Given the description of an element on the screen output the (x, y) to click on. 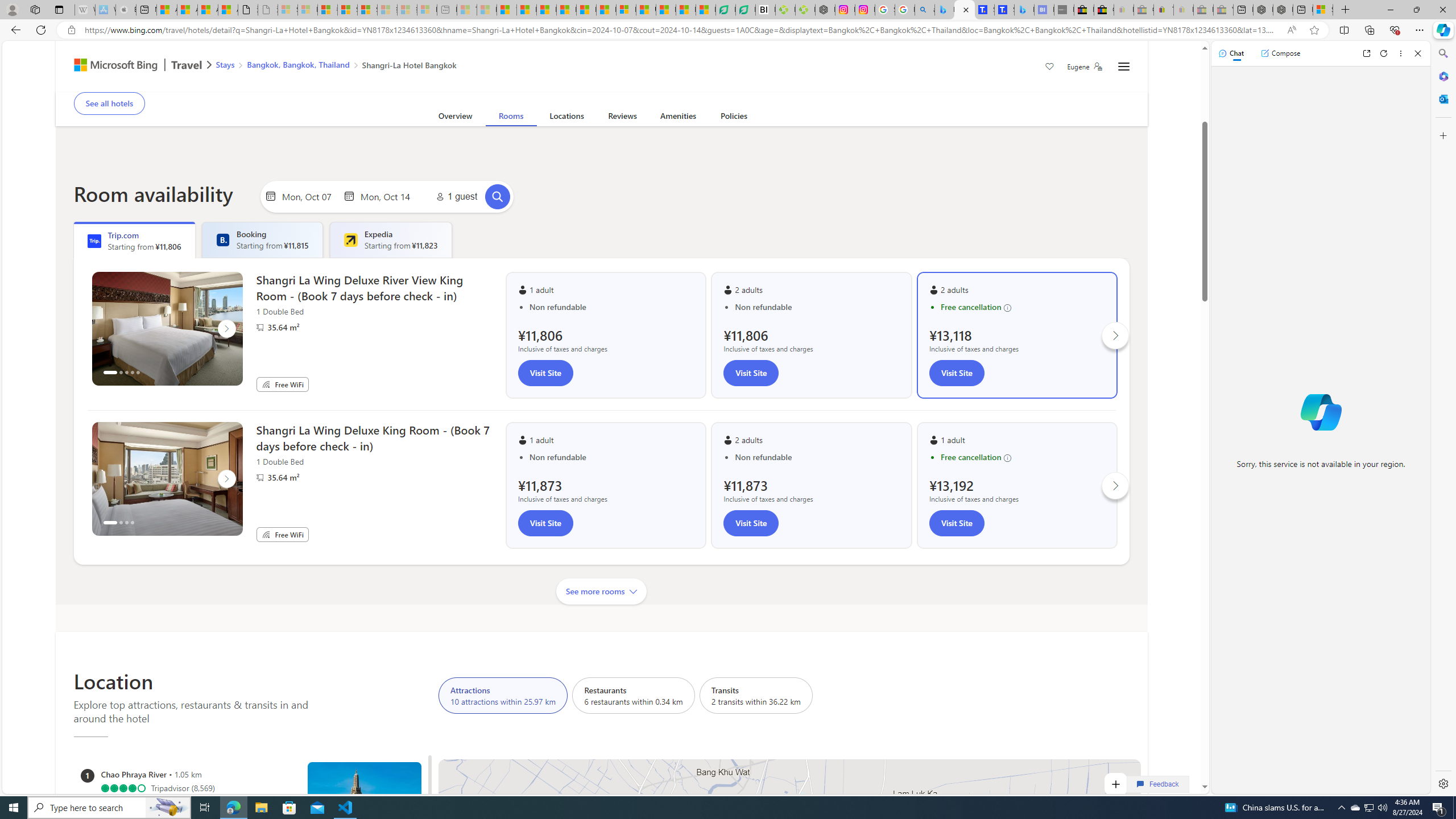
Yard, Garden & Outdoor Living - Sleeping (1222, 9)
Bangkok, Bangkok, Thailand (298, 64)
+12 More Amenities (626, 91)
